Given the description of an element on the screen output the (x, y) to click on. 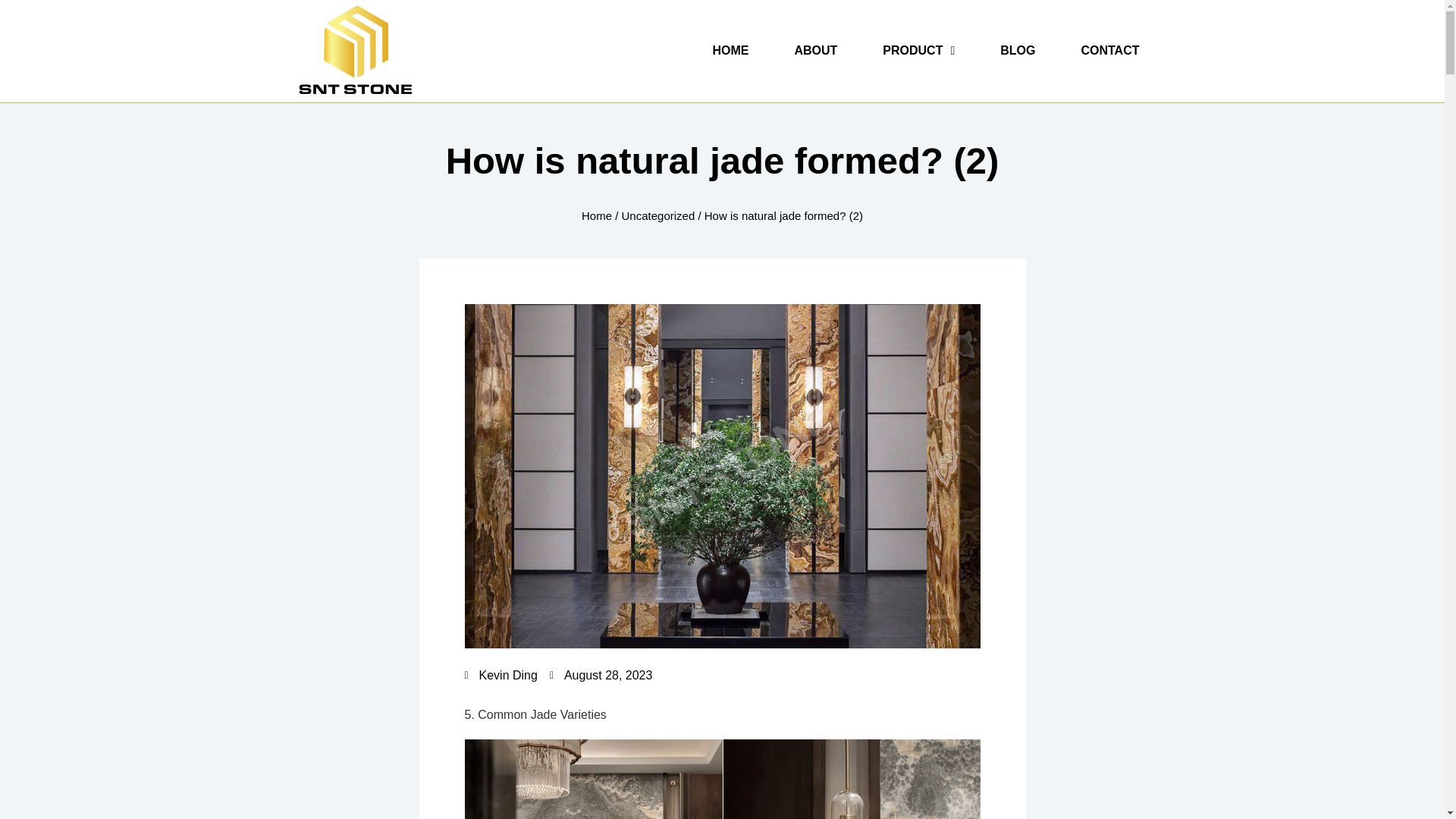
CONTACT (1109, 50)
PRODUCT (918, 50)
ABOUT (814, 50)
HOME (729, 50)
Uncategorized (658, 215)
BLOG (1017, 50)
Home (595, 215)
Kevin Ding (500, 675)
